Given the description of an element on the screen output the (x, y) to click on. 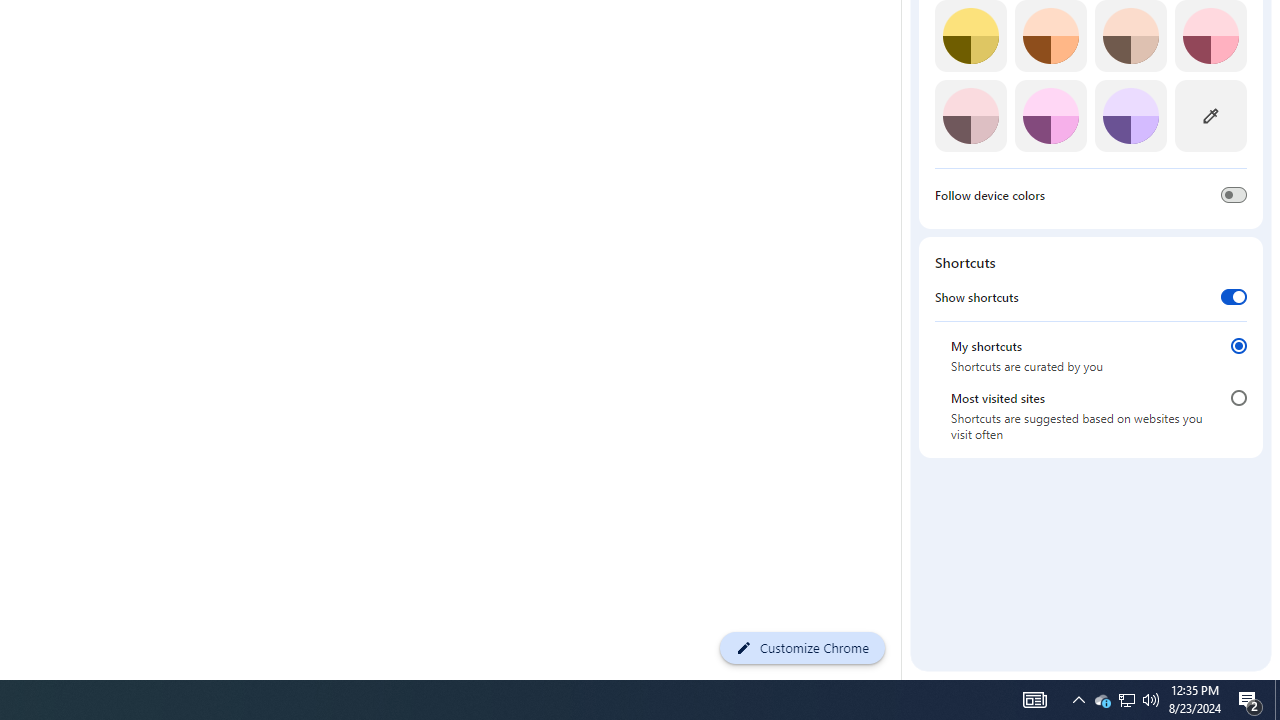
Custom color (1210, 115)
Rose (1210, 36)
Side Panel Resize Handle (905, 39)
Fuchsia (1050, 115)
Customize Chrome (801, 647)
Show shortcuts (1233, 296)
Follow device colors (1233, 195)
Violet (1130, 115)
My shortcuts (1238, 345)
Orange (1050, 36)
Most visited sites (1238, 398)
Pink (970, 115)
Citron (970, 36)
Apricot (1130, 36)
